Given the description of an element on the screen output the (x, y) to click on. 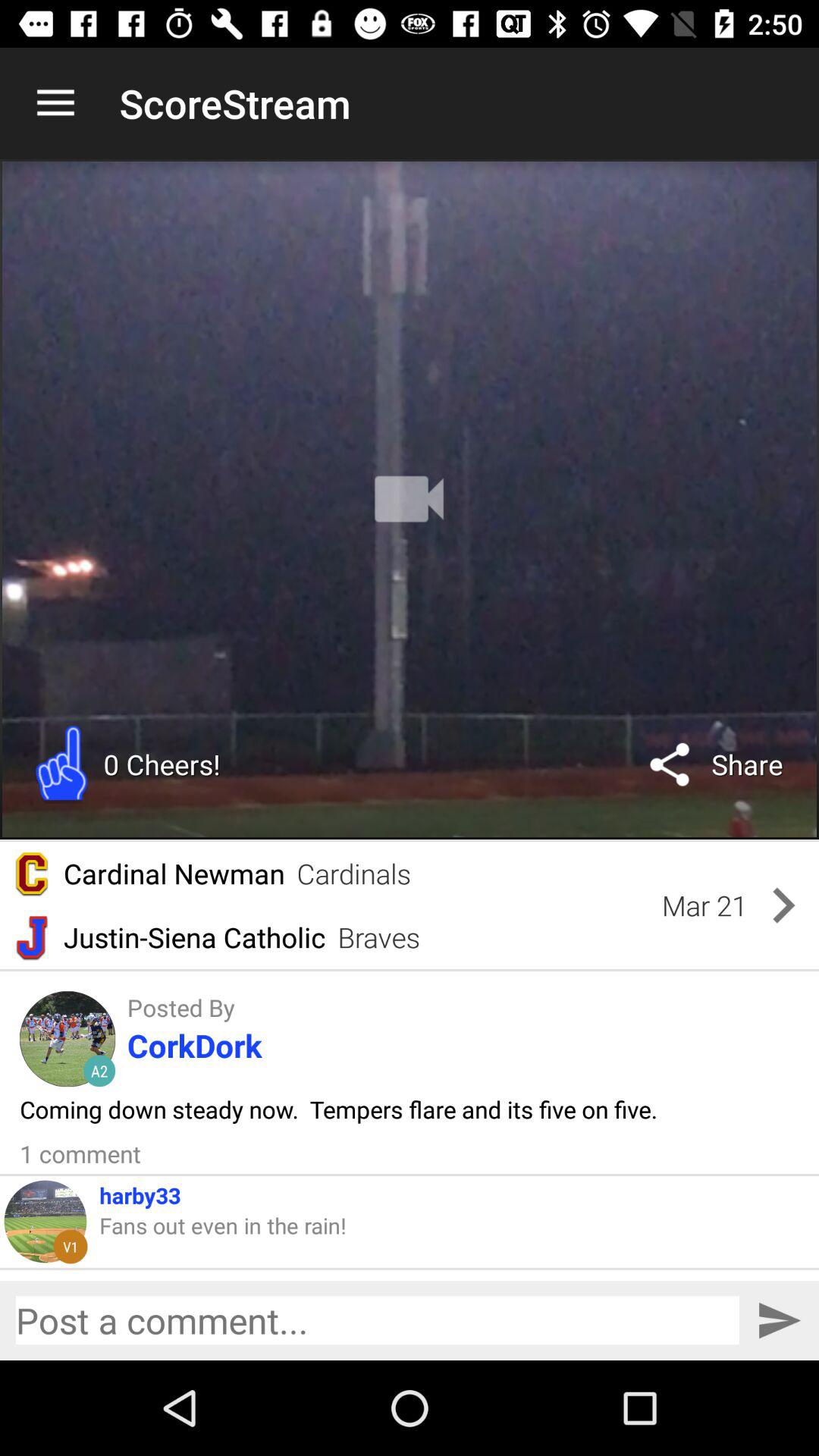
select item next to the braves icon (704, 905)
